Given the description of an element on the screen output the (x, y) to click on. 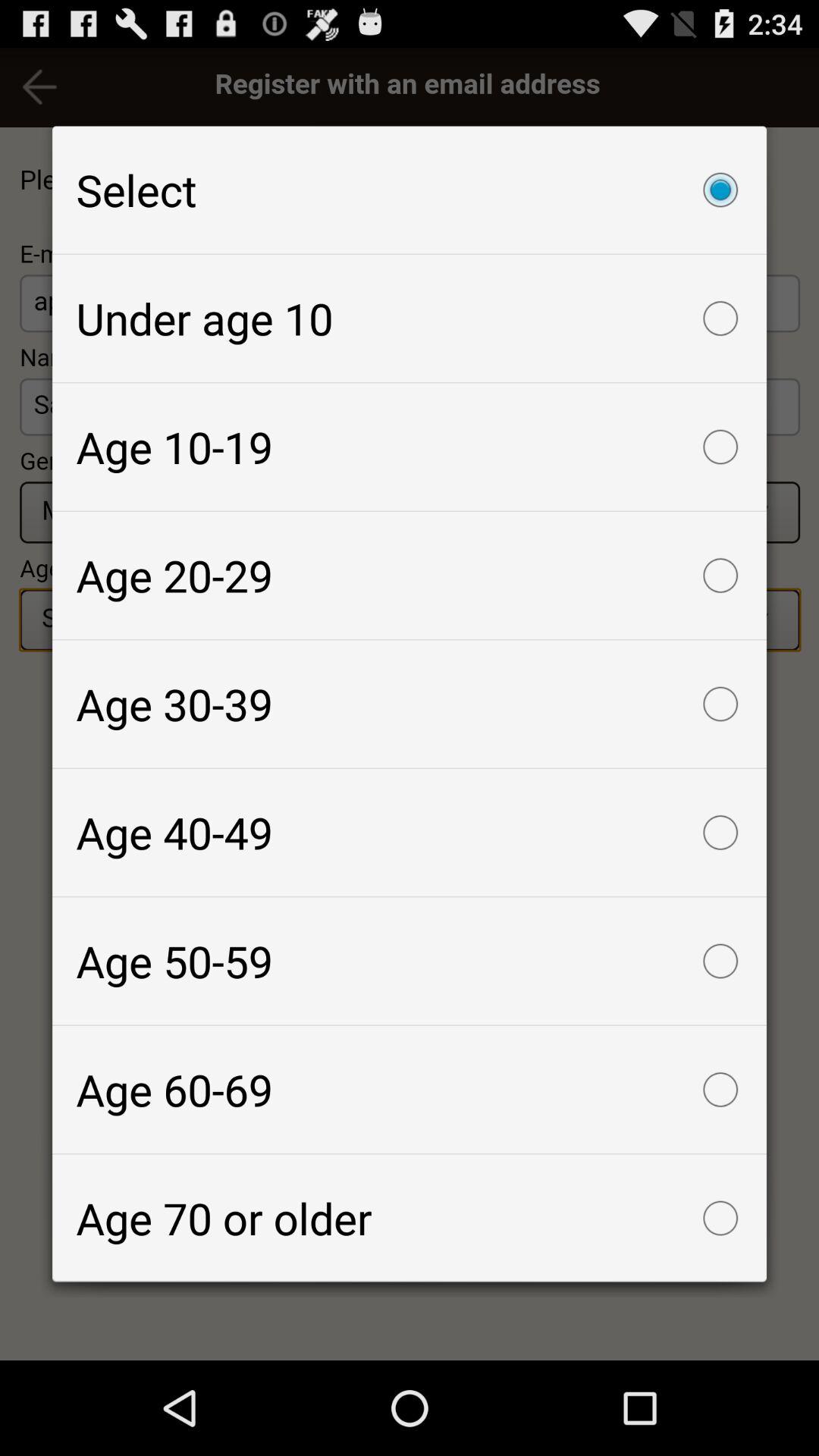
choose age 70 or icon (409, 1217)
